Given the description of an element on the screen output the (x, y) to click on. 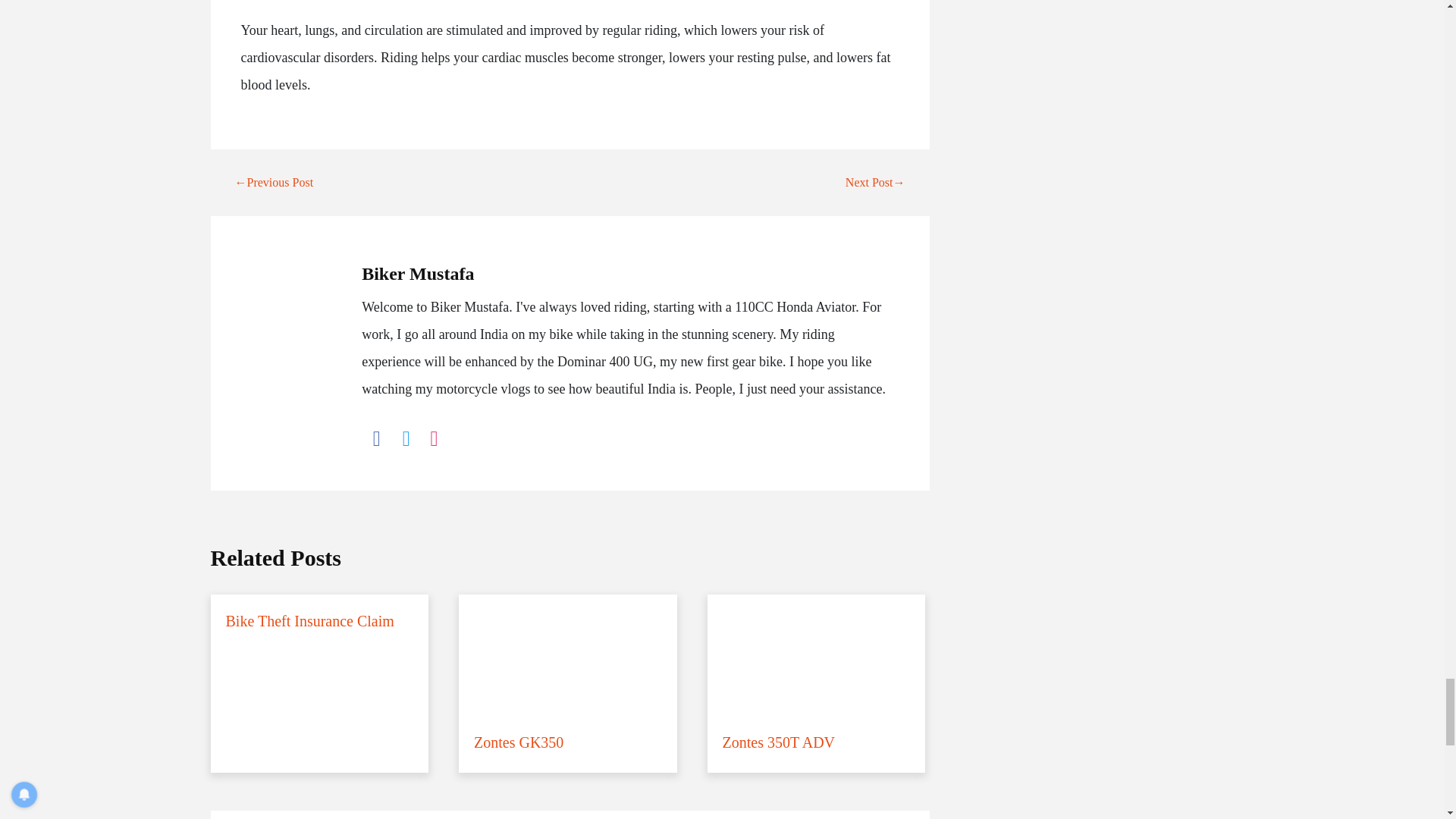
Bike Theft Insurance Claim (320, 622)
Zontes GK350 (567, 683)
Zontes 350T ADV (816, 683)
